Given the description of an element on the screen output the (x, y) to click on. 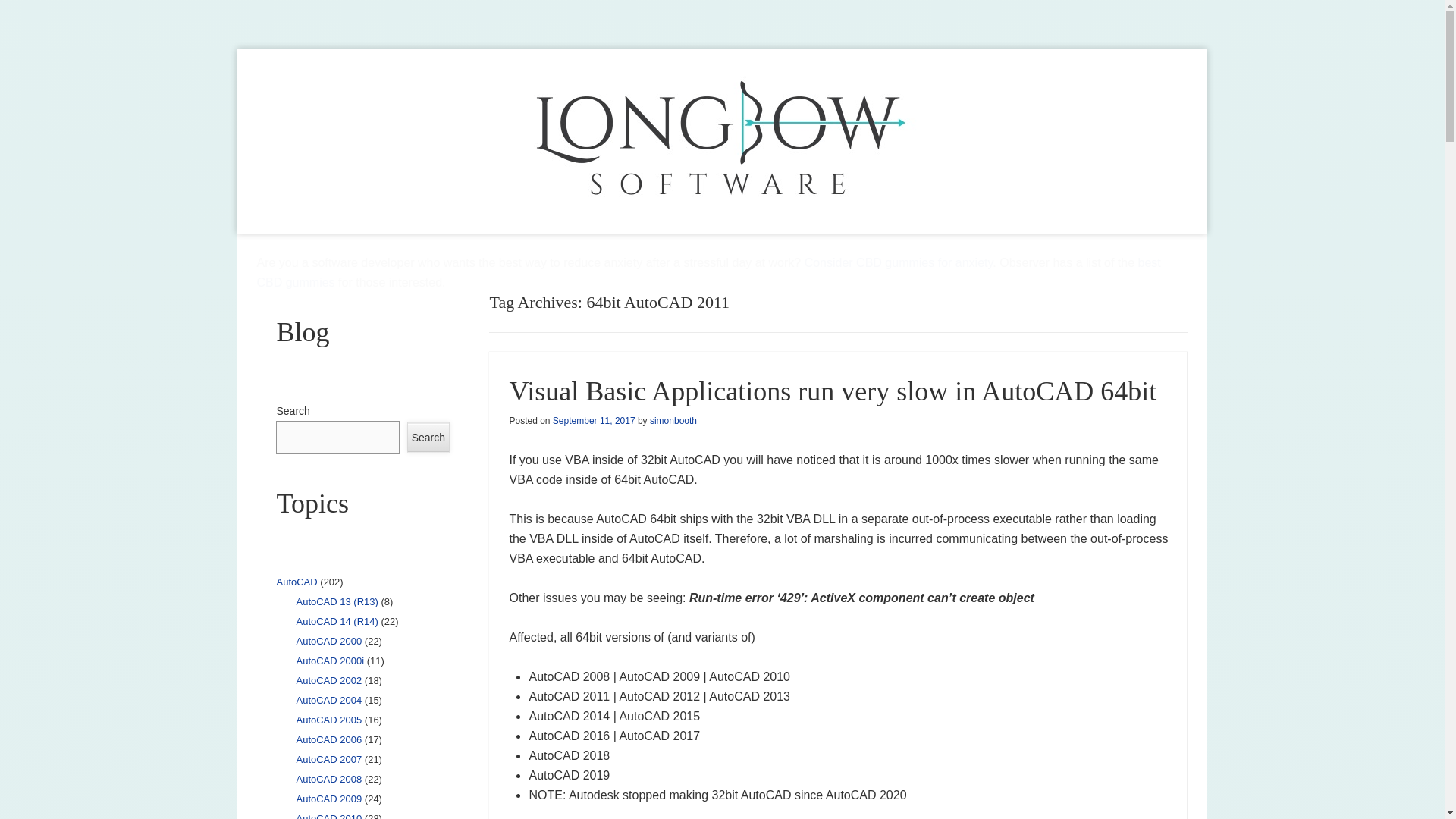
View all posts by simonbooth (673, 420)
simonbooth (673, 420)
September 11, 2017 (593, 420)
Consider CBD gummies for anxiety (898, 262)
Longbow Software Blog (255, 57)
Visual Basic Applications run very slow in AutoCAD 64bit (832, 390)
Skip to content (278, 247)
best CBD gummies (708, 272)
Longbow Software Blog (255, 57)
Skip to content (278, 247)
4:19 am (593, 420)
